Given the description of an element on the screen output the (x, y) to click on. 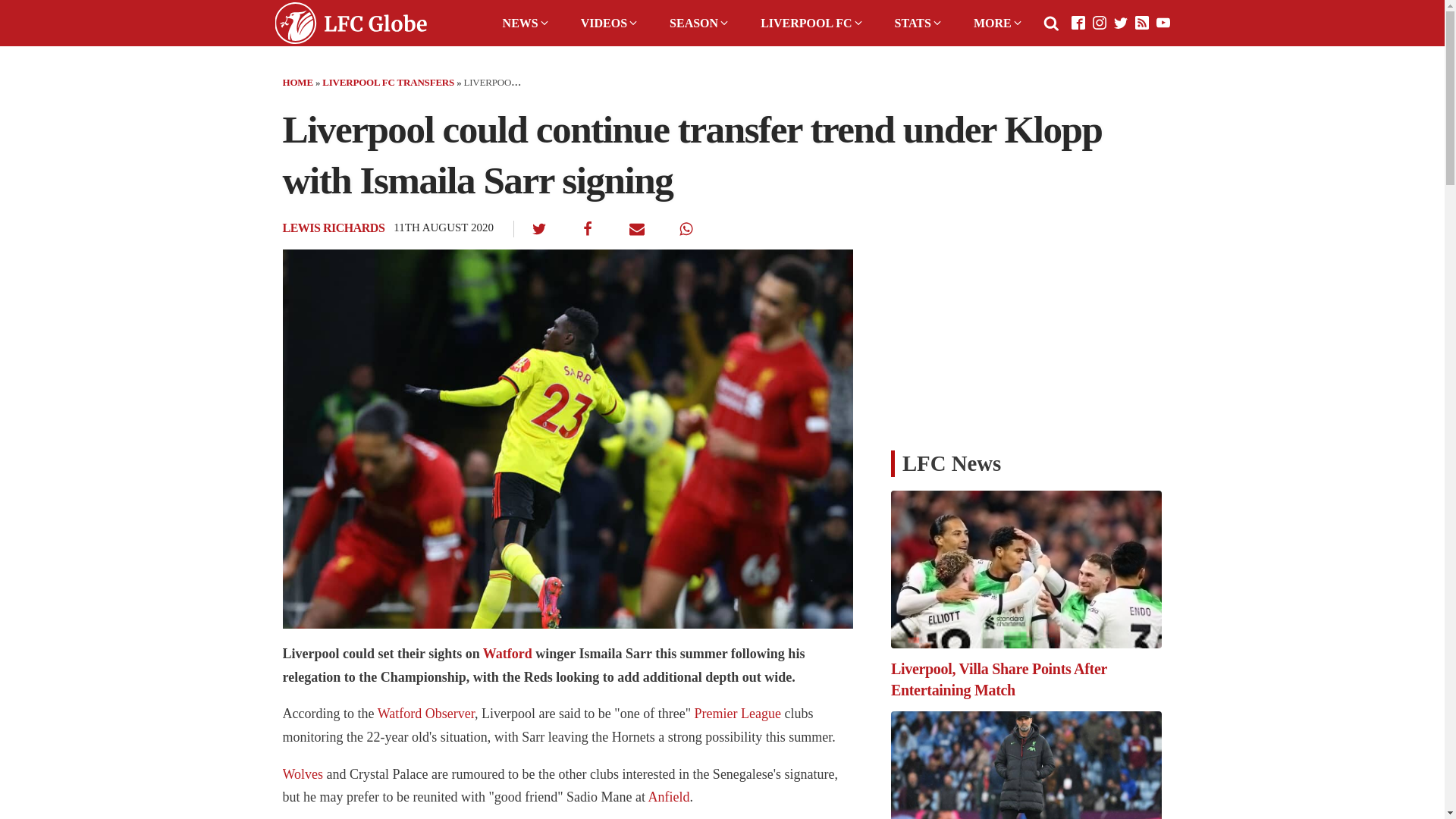
Related Liverpool FC news and insights (302, 774)
Related Liverpool FC news and insights (507, 653)
SEASON (700, 22)
Related Liverpool FC news and insights (668, 796)
STATS (918, 22)
VIDEOS (609, 22)
NEWS (526, 22)
LIVERPOOL FC (811, 22)
Related Liverpool FC news and insights (737, 713)
